Given the description of an element on the screen output the (x, y) to click on. 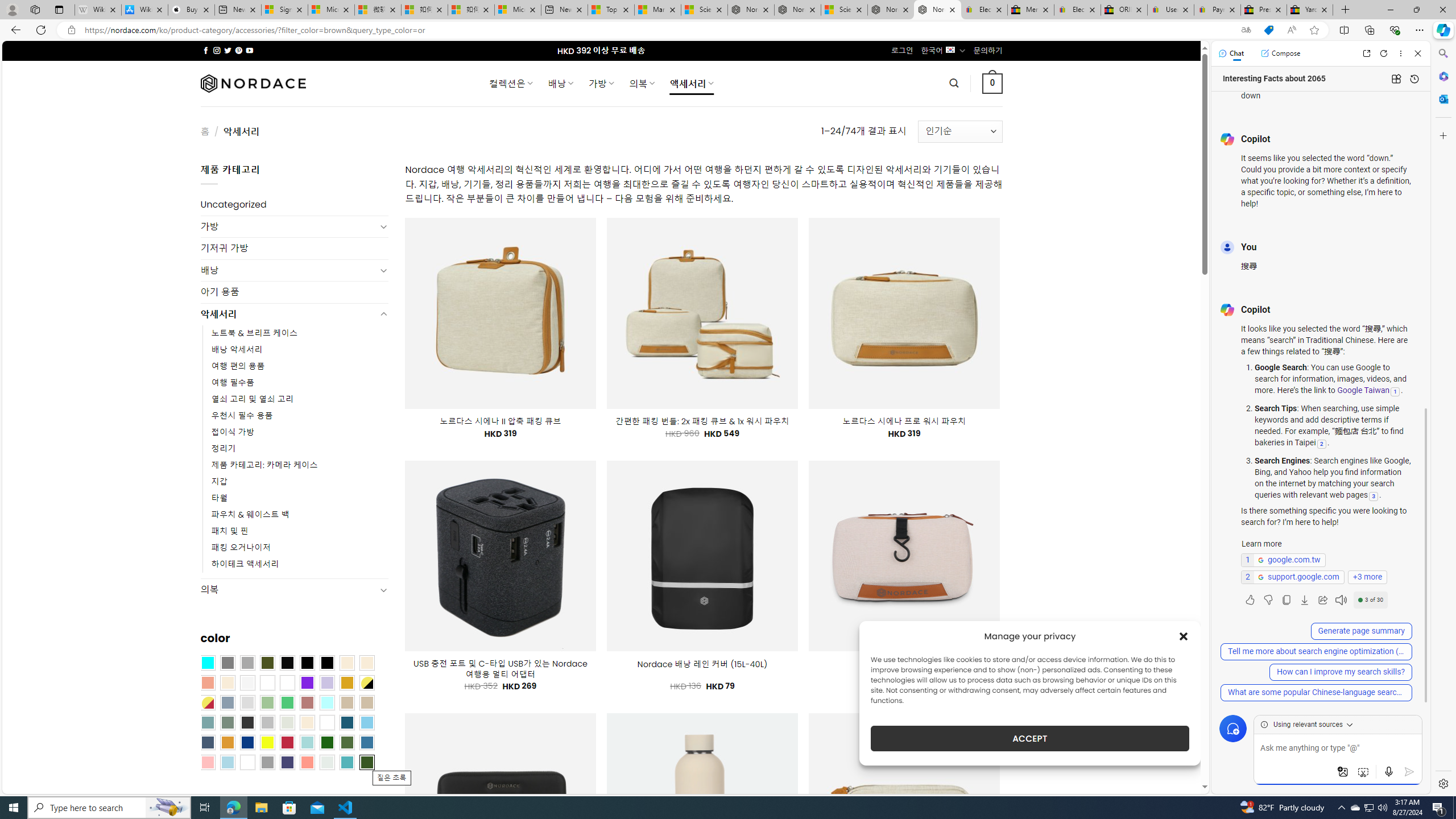
This site has coupons! Shopping in Microsoft Edge (1268, 29)
ACCEPT (1029, 738)
